Given the description of an element on the screen output the (x, y) to click on. 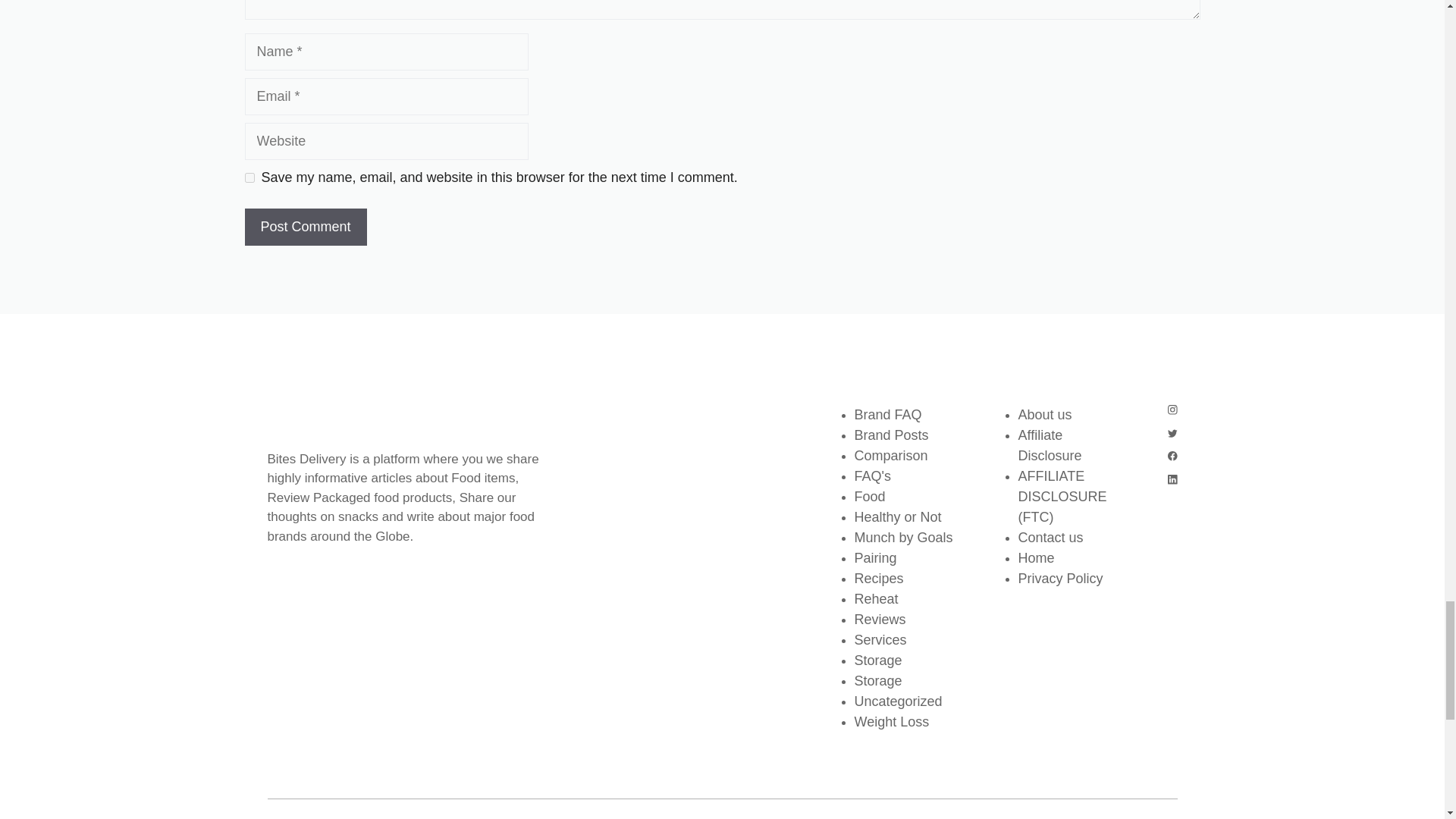
Post Comment (305, 226)
Post Comment (305, 226)
Brand FAQ (887, 414)
yes (248, 177)
FAQ's (871, 476)
Munch by Goals (902, 537)
Brand Posts (890, 435)
grayscalesmall (342, 420)
Food (869, 496)
Pairing (874, 557)
Healthy or Not (896, 516)
Comparison (890, 455)
Recipes (877, 578)
